Given the description of an element on the screen output the (x, y) to click on. 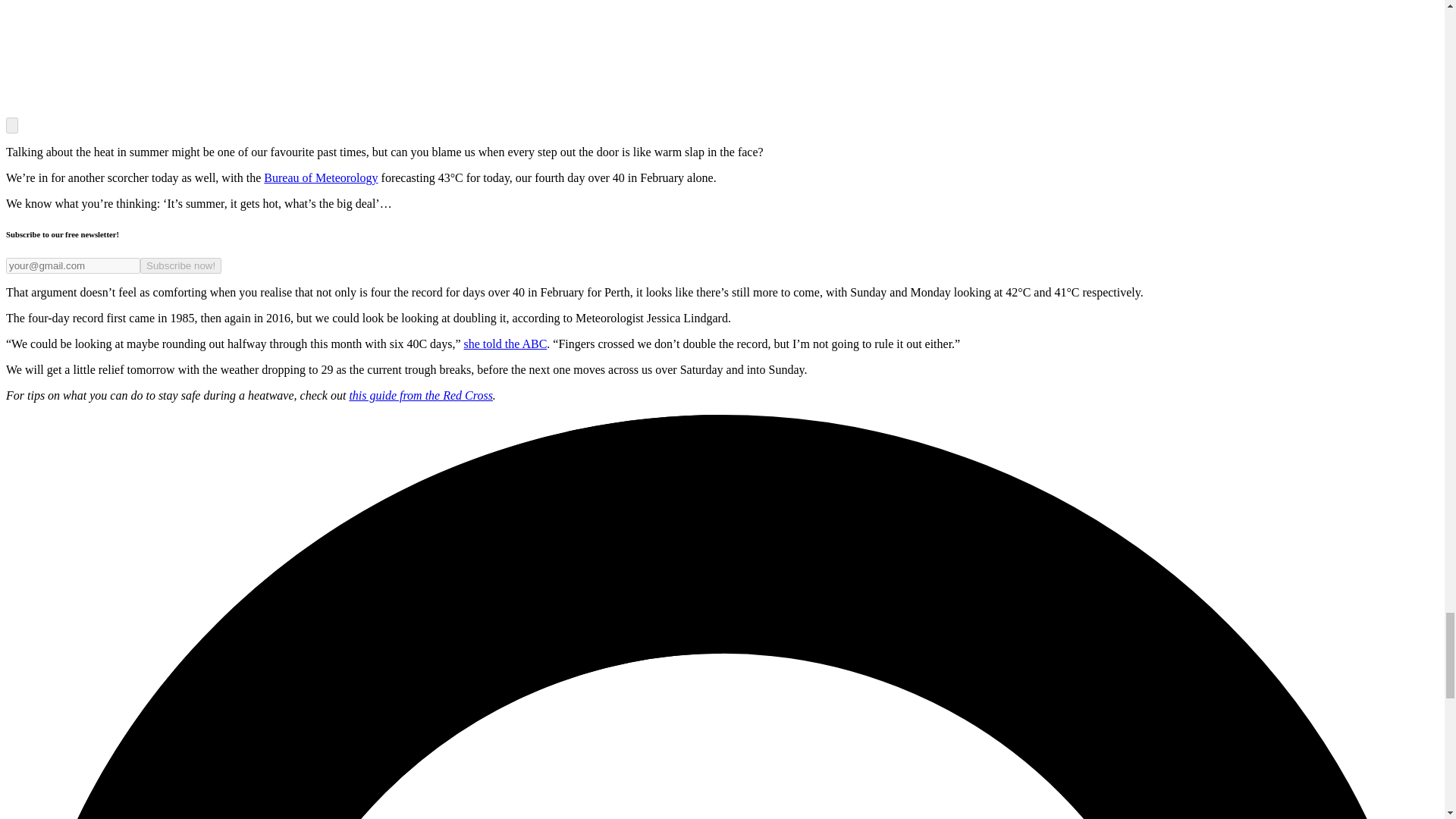
Bureau of Meteorology (320, 177)
she told the ABC (505, 343)
this guide from the Red Cross (420, 395)
Subscribe now! (180, 265)
